Given the description of an element on the screen output the (x, y) to click on. 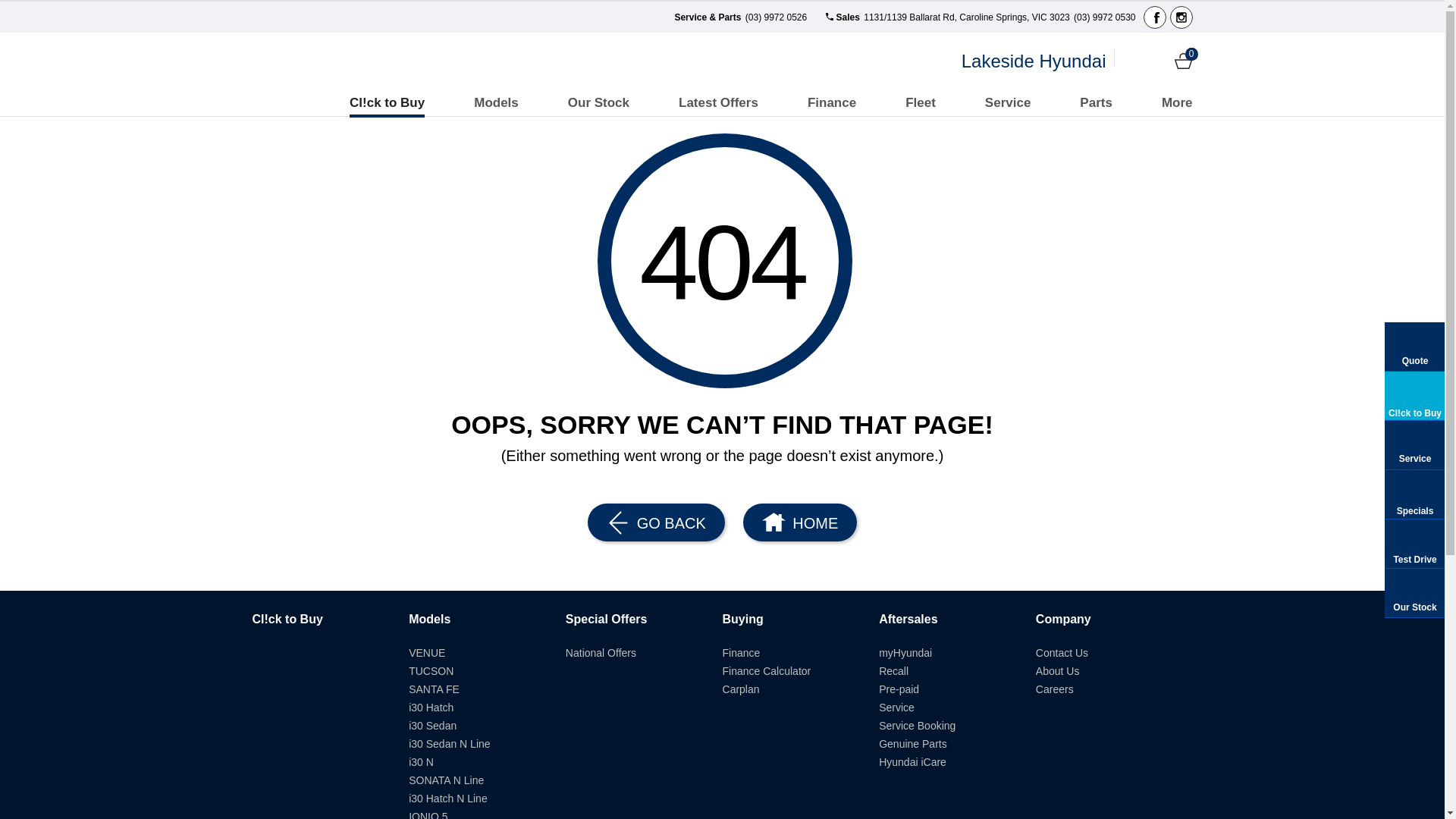
Recall Element type: text (893, 671)
myHyundai Element type: text (904, 652)
Cl!ck to Buy Element type: text (286, 618)
i30 Hatch N Line Element type: text (447, 798)
Finance Element type: text (831, 102)
National Offers Element type: text (600, 652)
Models Element type: text (429, 618)
SANTA FE Element type: text (433, 689)
i30 Sedan Element type: text (432, 725)
Finance Element type: text (741, 652)
Instagram Element type: hover (1180, 17)
Service Booking Element type: text (916, 725)
(03) 9972 0530 Element type: text (1103, 17)
Latest Offers Element type: text (718, 102)
HOME Element type: text (799, 522)
GO BACK Element type: text (655, 522)
Genuine Parts Element type: text (912, 743)
Pre-paid Element type: text (898, 689)
Carplan Element type: text (740, 689)
i30 Sedan N Line Element type: text (448, 743)
Service & Parts Element type: text (707, 17)
Signup Element type: text (1157, 60)
Parts Element type: text (1095, 102)
Special Offers Element type: text (606, 618)
i30 N Element type: text (420, 762)
Hyundai Motor Company Element type: text (313, 60)
SONATA N Line Element type: text (445, 780)
Finance Calculator Element type: text (766, 671)
(03) 9972 0526 Element type: text (774, 17)
Service Element type: text (896, 707)
More Element type: text (1176, 102)
Hyundai iCare Element type: text (912, 762)
i30 Hatch Element type: text (430, 707)
1131/1139 Ballarat Rd, Caroline Springs, VIC 3023 Element type: text (966, 17)
Service Element type: text (1008, 102)
Careers Element type: text (1054, 689)
About Us Element type: text (1057, 671)
Buying Element type: text (742, 618)
Login Element type: text (1131, 60)
VENUE Element type: text (426, 652)
Fleet Element type: text (920, 102)
Models Element type: text (495, 102)
Company Element type: text (1063, 618)
Cl!ck to Buy Element type: text (386, 102)
TUCSON Element type: text (430, 671)
Our Stock Element type: text (598, 102)
Aftersales Element type: text (907, 618)
Cart
0 Element type: text (1182, 61)
Facebook Element type: hover (1154, 17)
Contact Us Element type: text (1061, 652)
